Given the description of an element on the screen output the (x, y) to click on. 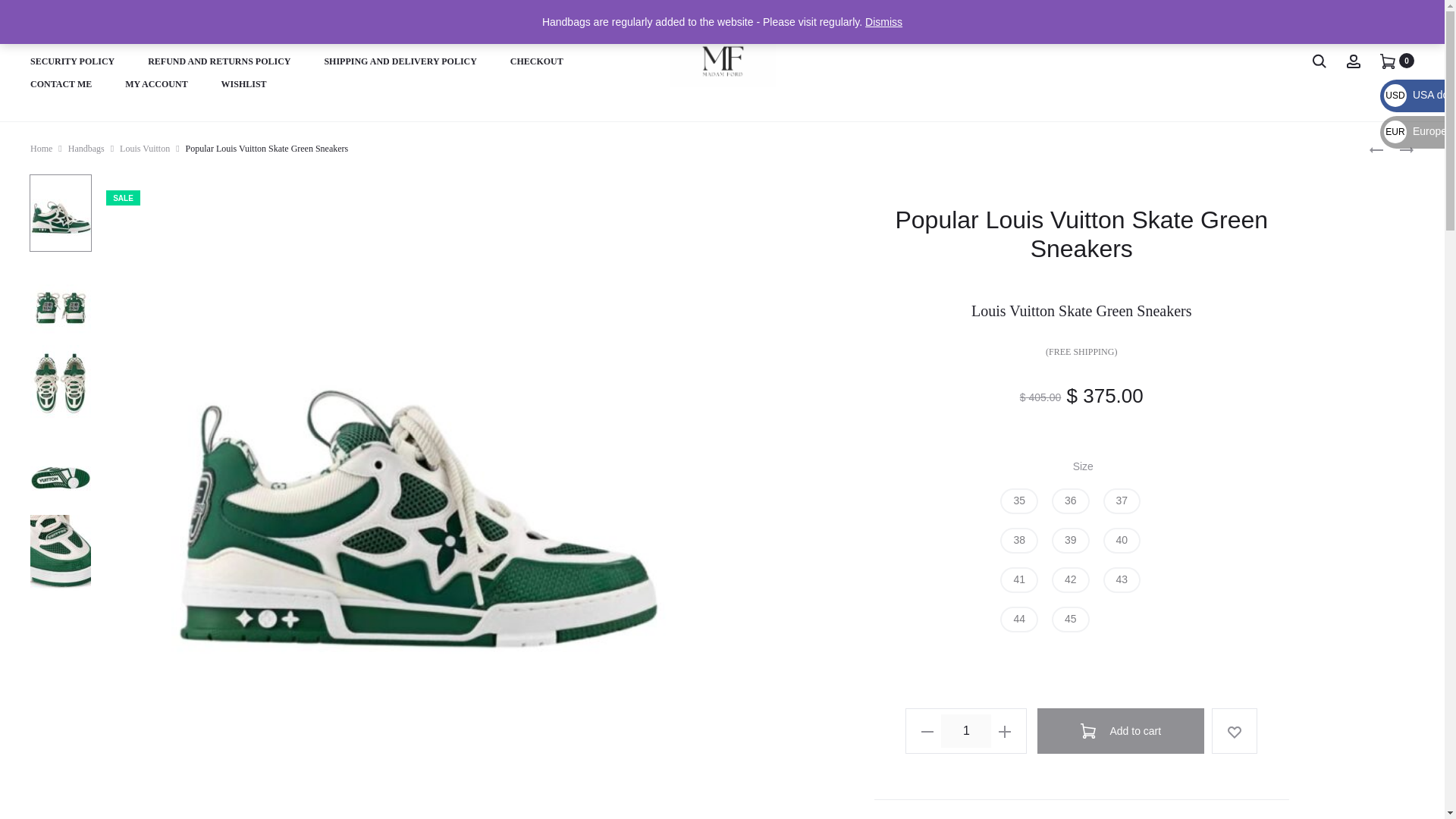
REFUND AND RETURNS POLICY (218, 62)
MY ACCOUNT (156, 85)
Louis Vuitton (144, 148)
Home (41, 148)
Search (1318, 60)
1 (965, 730)
CHECKOUT (537, 62)
VERIFIED CUSTOMER REVIEWS (403, 39)
Account (1353, 60)
0 (1387, 60)
ABOUT ME (55, 39)
MADAM BLOG (145, 39)
CONTACT ME (60, 85)
PRIVACY POLICY (549, 39)
